Given the description of an element on the screen output the (x, y) to click on. 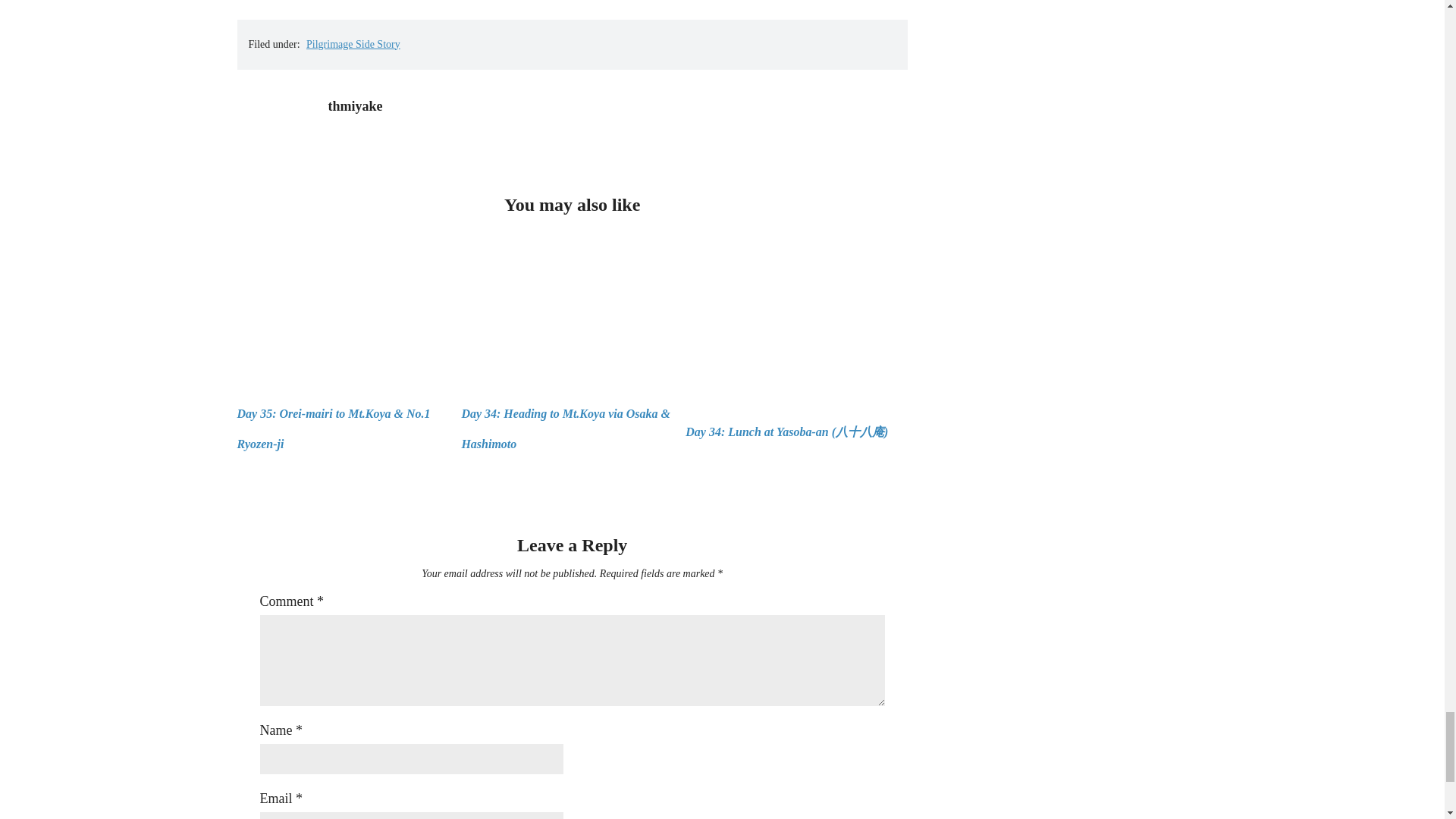
Pilgrimage Side Story (352, 43)
